Given the description of an element on the screen output the (x, y) to click on. 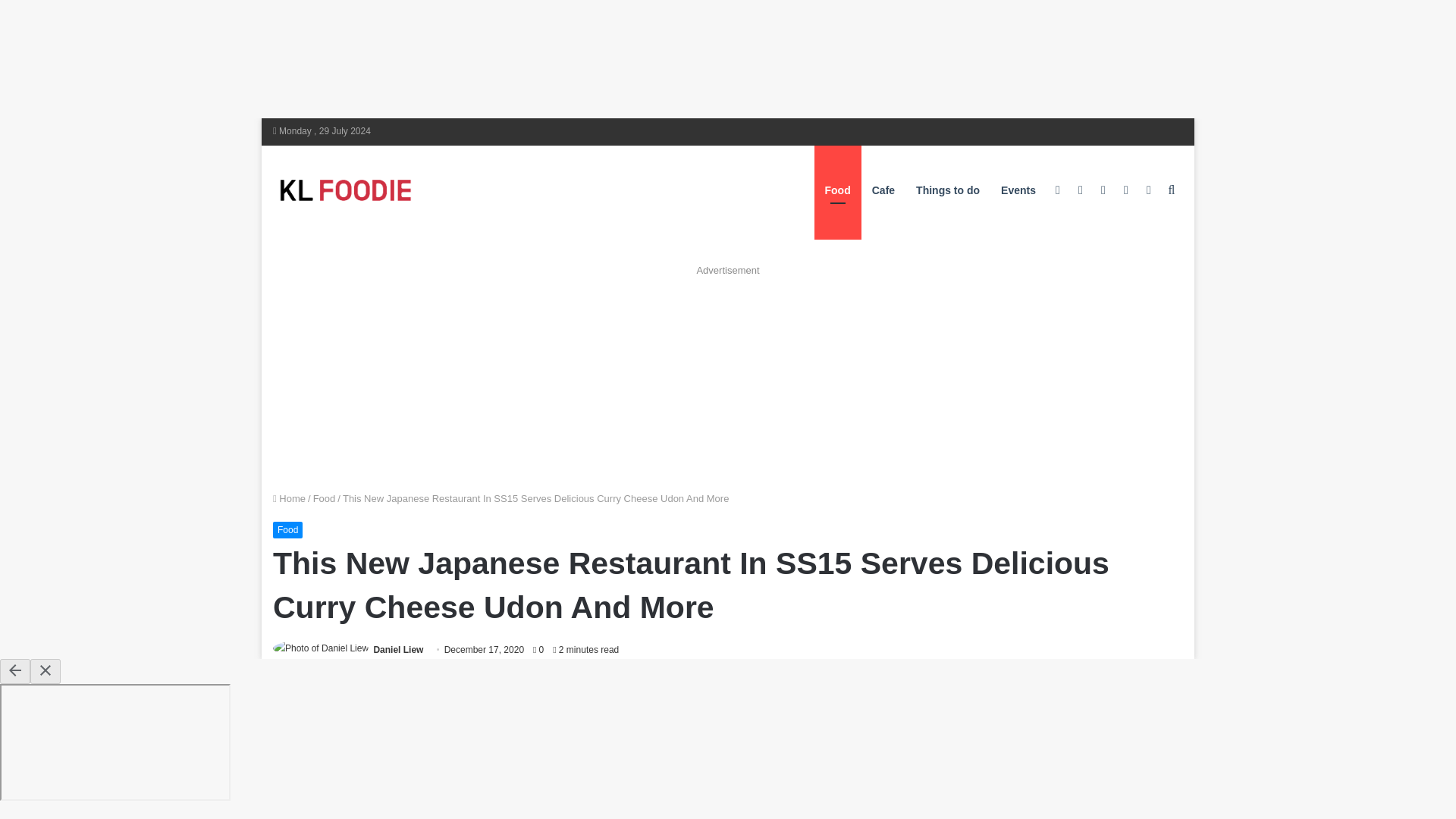
KL Foodie (405, 189)
Daniel Liew (397, 649)
Food (287, 529)
Daniel Liew (397, 649)
Food (324, 498)
Things to do (947, 189)
Home (289, 498)
